Given the description of an element on the screen output the (x, y) to click on. 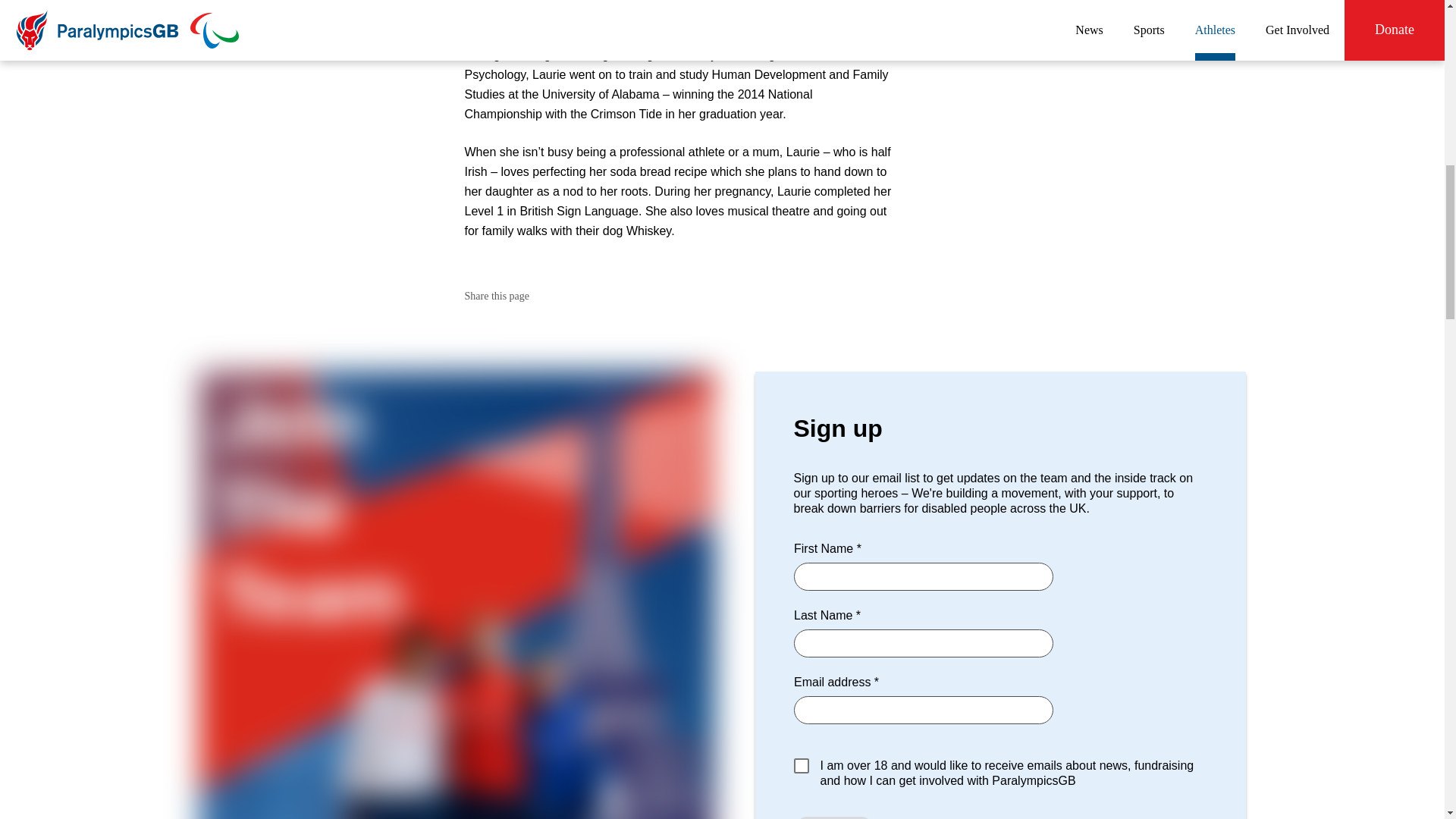
Sign up (834, 817)
